Given the description of an element on the screen output the (x, y) to click on. 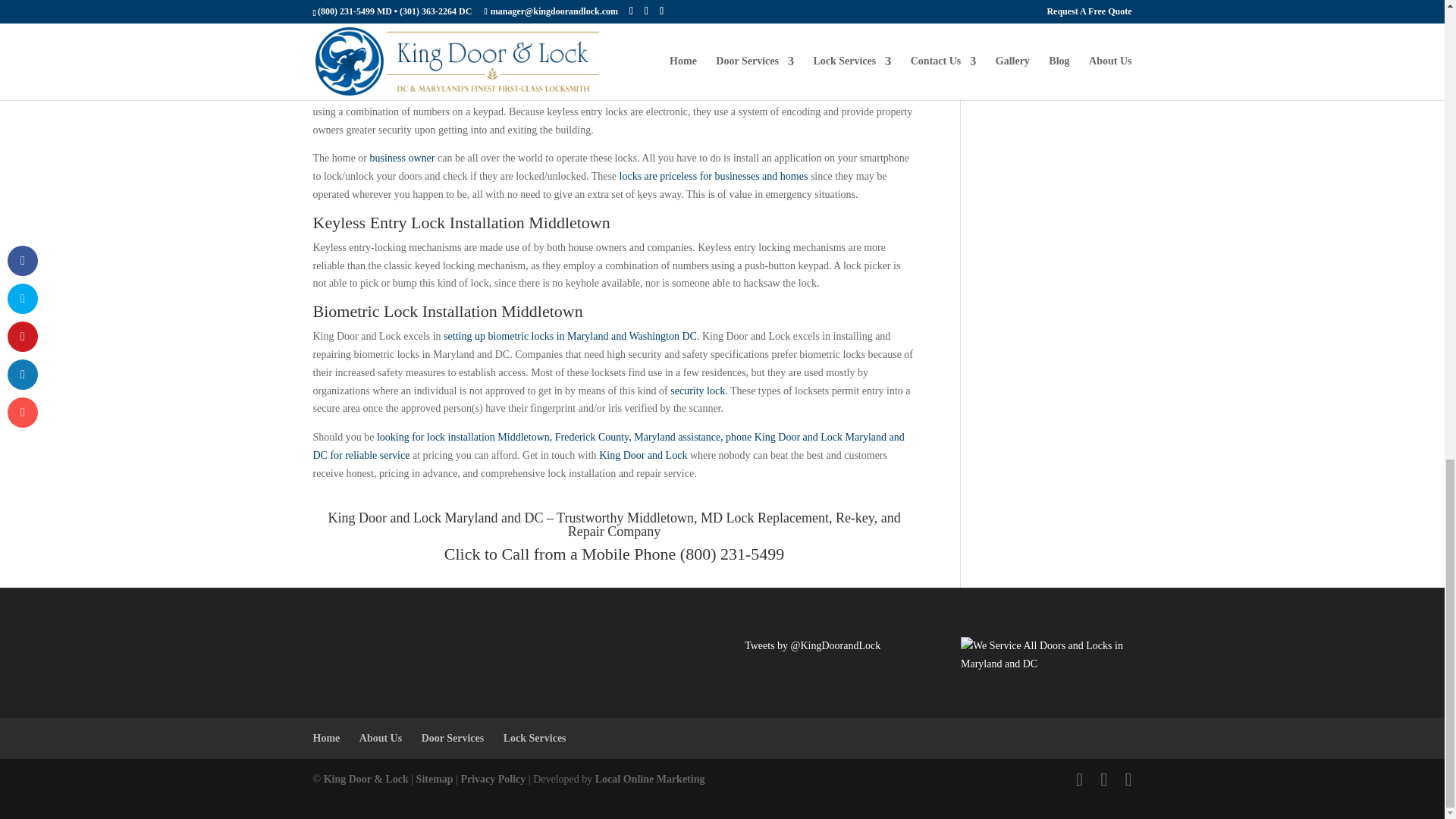
Keyless Entry Lock Installation and Repair (596, 29)
Lock Installation and Repair Service in Middletown, MD (734, 524)
Biometric Lock Installation and Repair (570, 336)
